Given the description of an element on the screen output the (x, y) to click on. 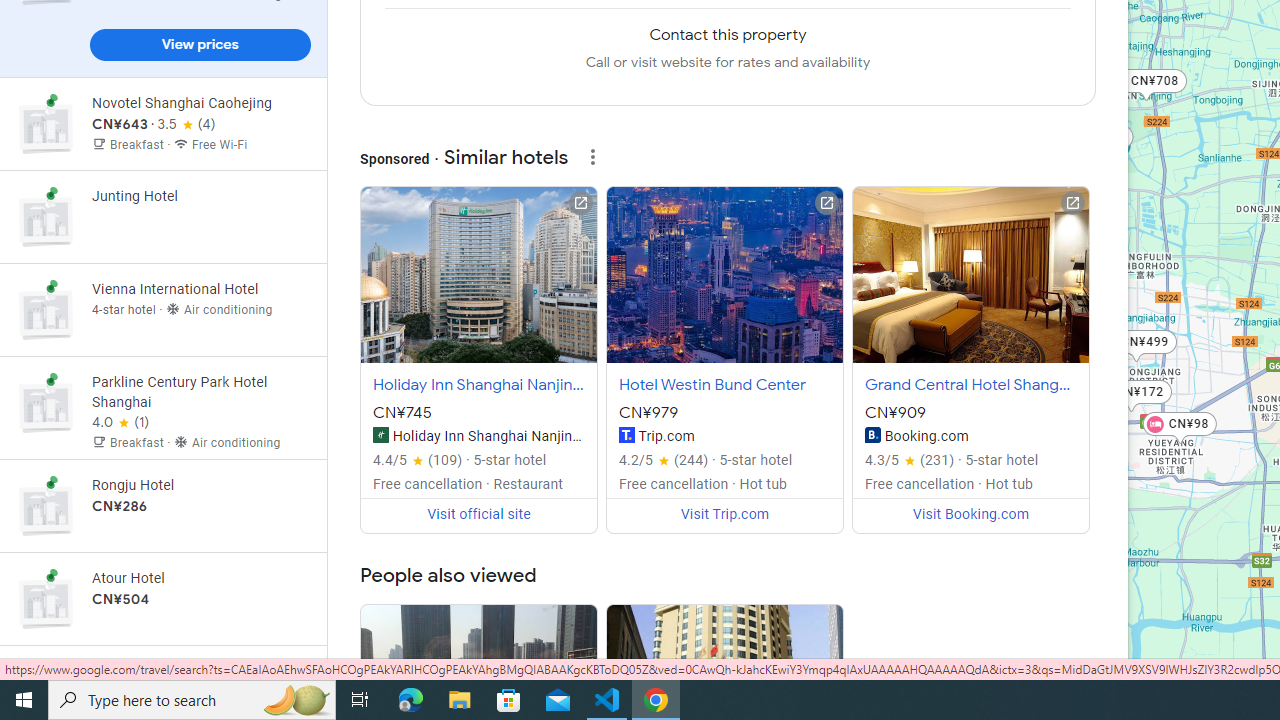
View prices for Vienna International Hotel (200, 380)
View prices for Rongju Hotel (200, 575)
View prices (200, 44)
4 out of 5 stars from 1 reviews (120, 422)
Holiday Inn Shanghai Nanjing Road (380, 434)
View prices for Junting Hotel (200, 286)
View prices for Z Hotel (200, 48)
Trip.com (626, 434)
